Given the description of an element on the screen output the (x, y) to click on. 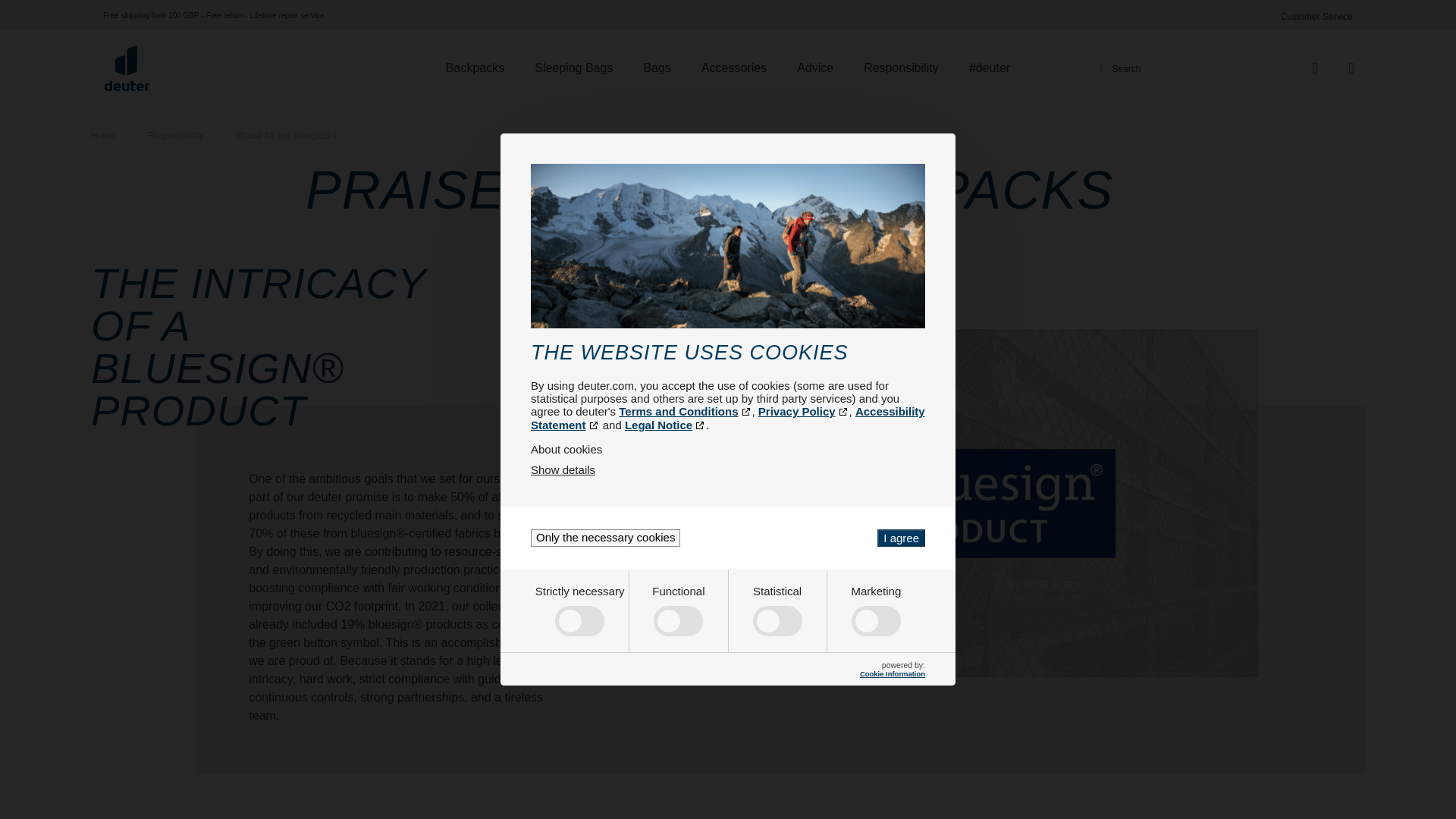
opens in a new tab (665, 424)
opens in a new tab (803, 410)
Show details (563, 469)
Accessibility Statement (727, 417)
About cookies (727, 449)
opens in a new tab (727, 417)
Privacy Policy (803, 410)
Deuter Logo (126, 67)
Terms and Conditions (684, 410)
opens in a new tab (684, 410)
